Given the description of an element on the screen output the (x, y) to click on. 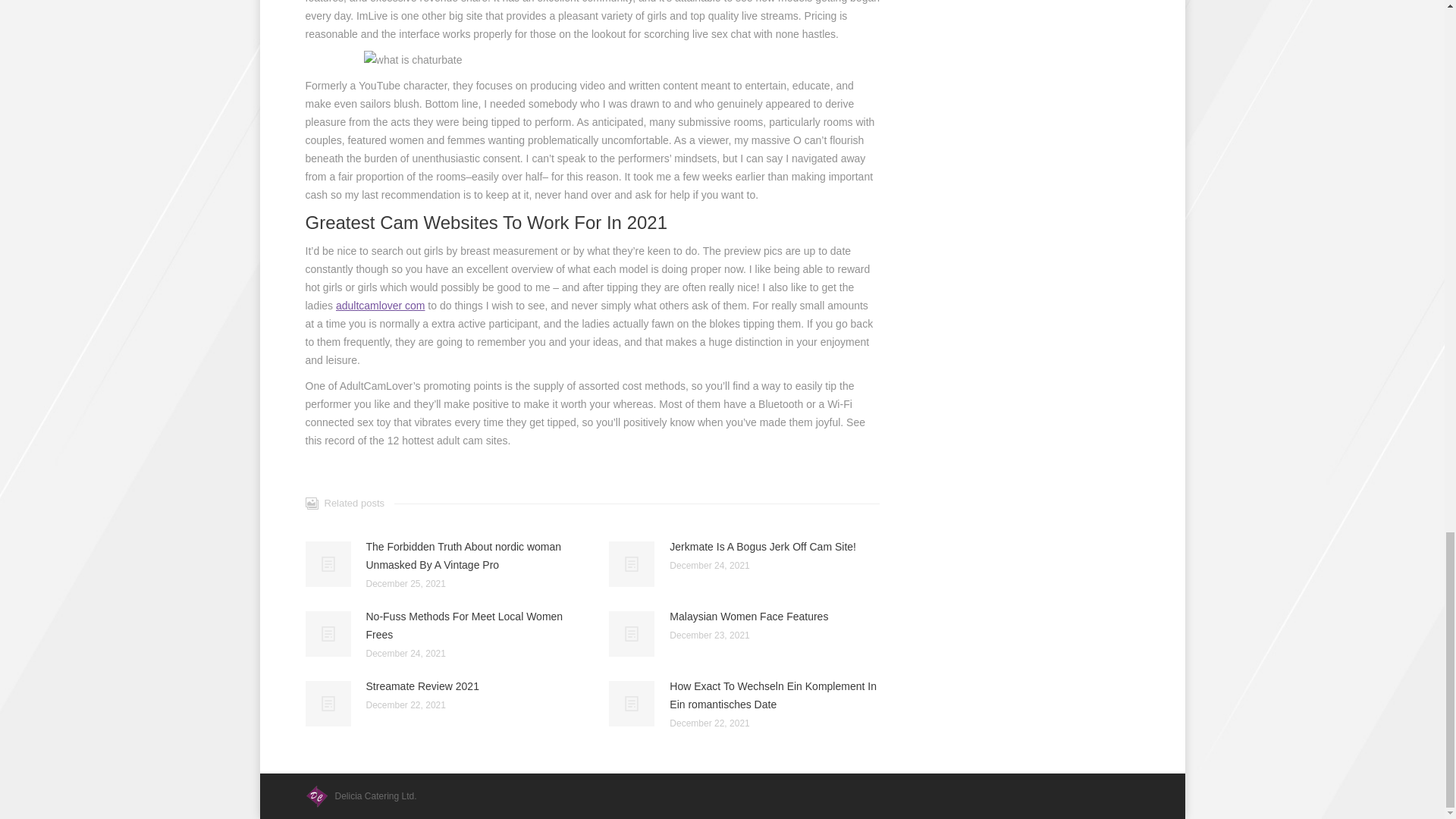
Jerkmate Is A Bogus Jerk Off Cam Site! (762, 546)
adultcamlover com (380, 305)
Streamate Review 2021 (422, 686)
No-Fuss Methods For Meet Local Women Frees (470, 625)
Malaysian Women Face Features (748, 616)
